Given the description of an element on the screen output the (x, y) to click on. 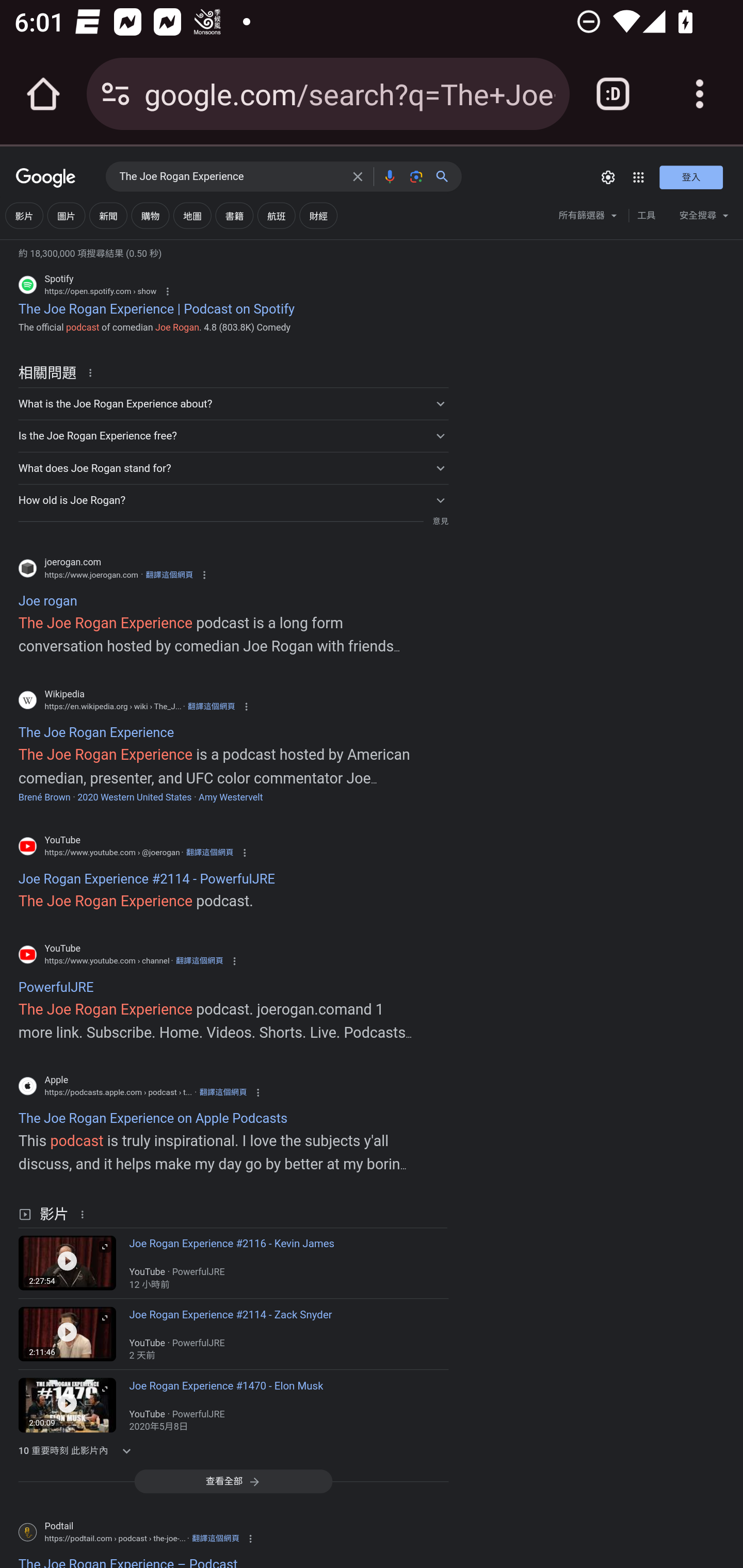
Open the home page (43, 93)
Connection is secure (115, 93)
Switch or close tabs (612, 93)
Customize and control Google Chrome (699, 93)
